Given the description of an element on the screen output the (x, y) to click on. 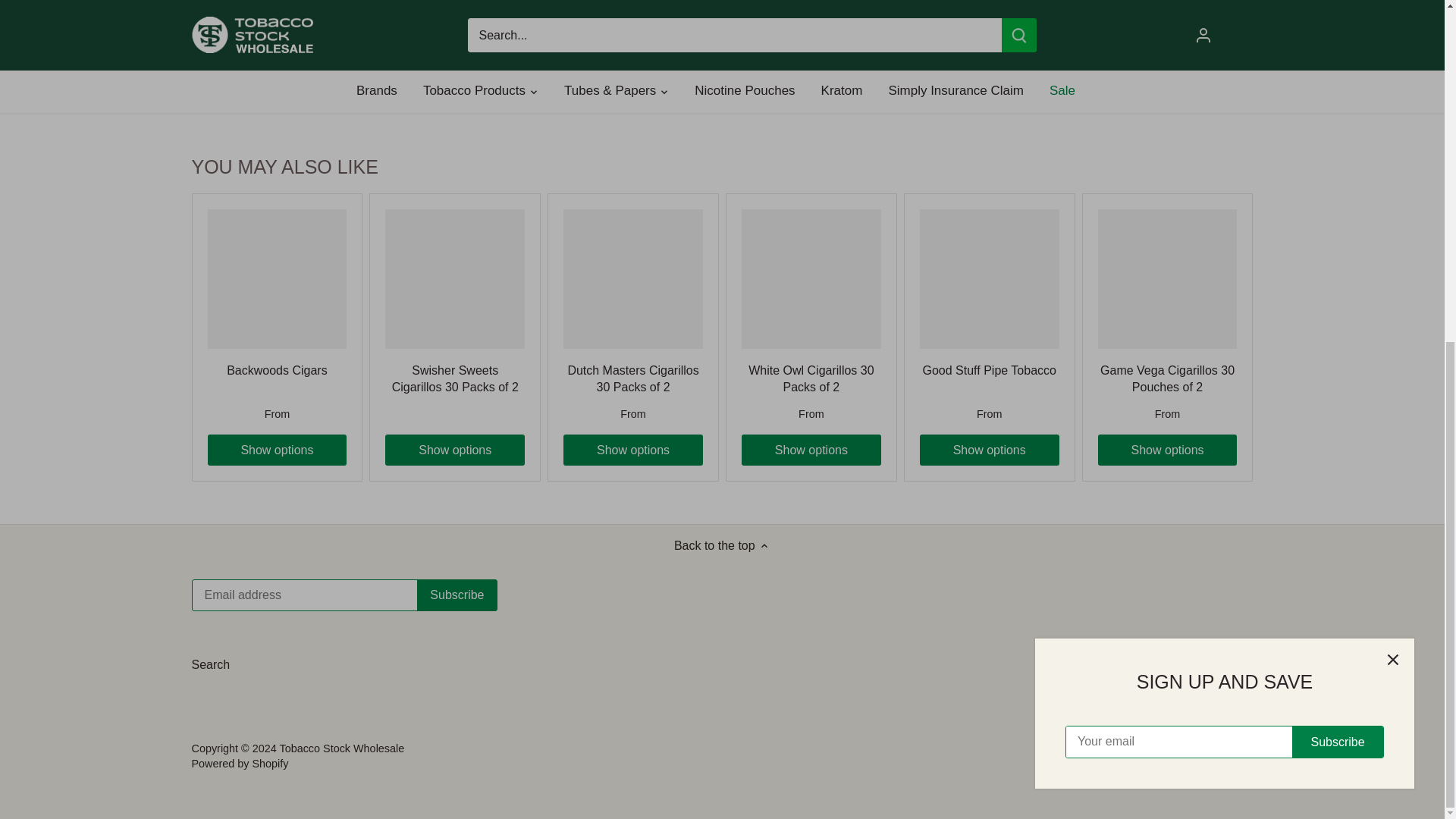
Mastercard (1190, 752)
Discover (1144, 752)
American Express (1099, 752)
Visa (1233, 752)
Subscribe (456, 594)
